Given the description of an element on the screen output the (x, y) to click on. 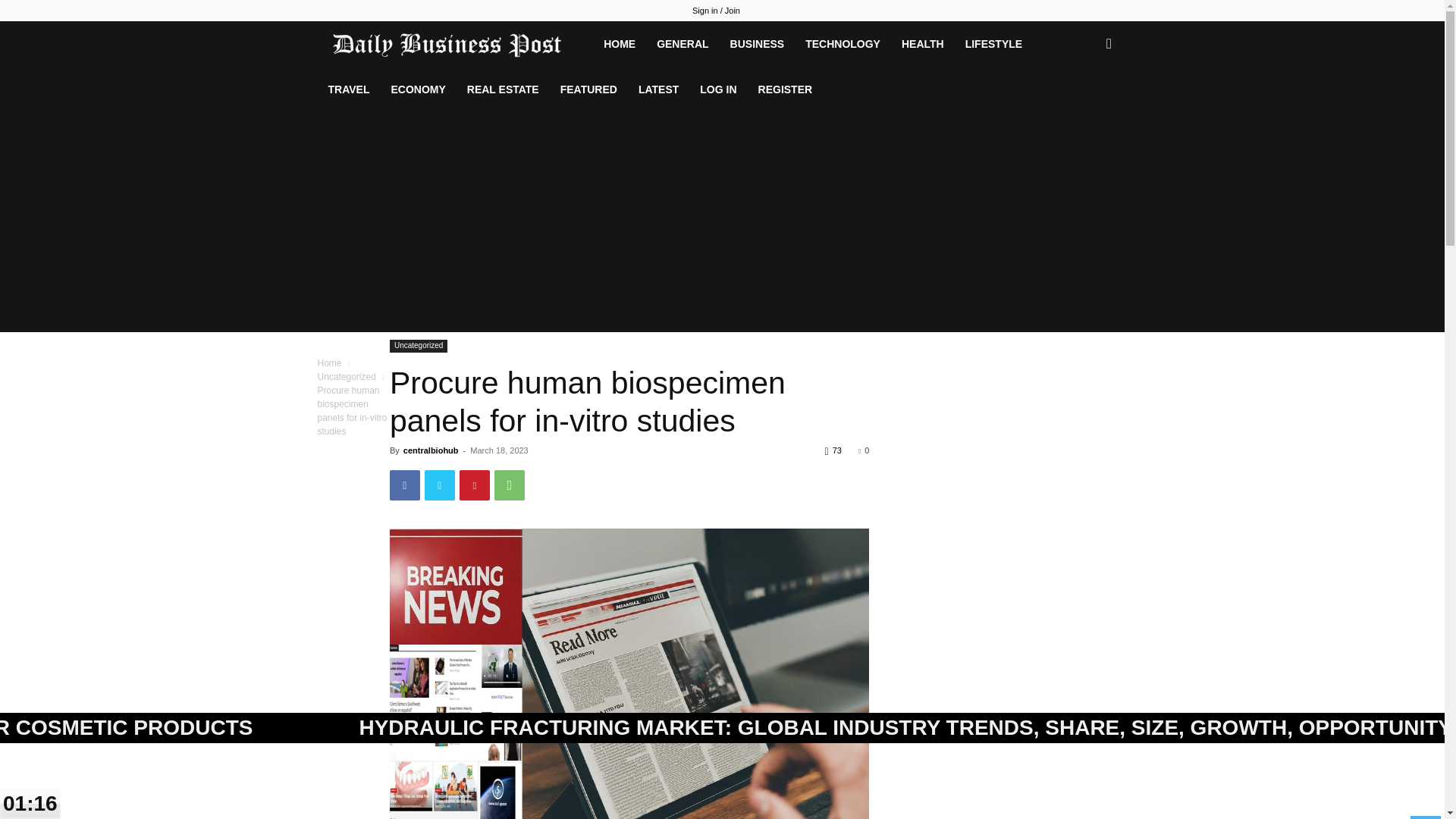
FEATURED (588, 89)
Pinterest (474, 485)
REAL ESTATE (503, 89)
WhatsApp (509, 485)
Daily Business Post (454, 43)
HOME (619, 43)
TECHNOLOGY (842, 43)
Facebook (405, 485)
LIFESTYLE (993, 43)
LOG IN (717, 89)
Twitter (439, 485)
TRAVEL (348, 89)
BUSINESS (756, 43)
